Given the description of an element on the screen output the (x, y) to click on. 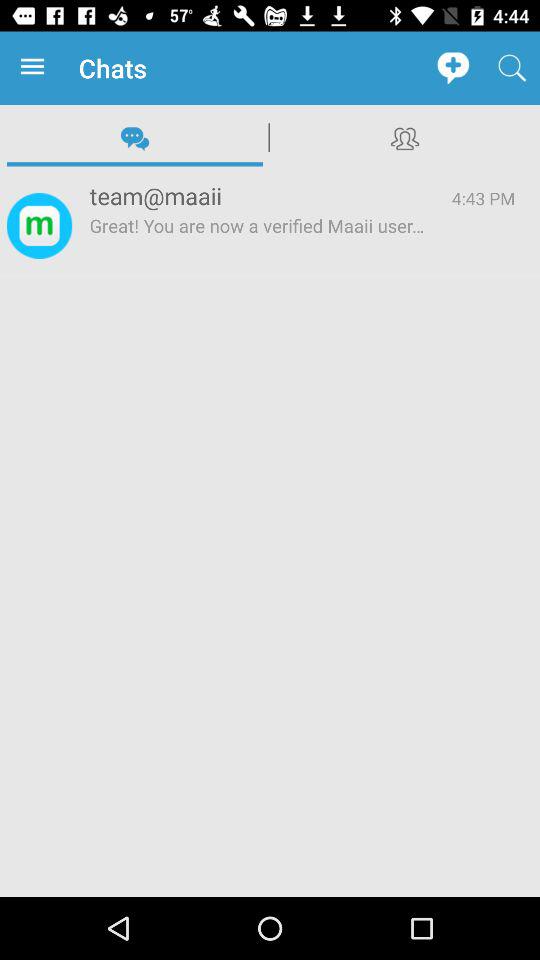
launch app to the right of team@maaii (483, 198)
